Given the description of an element on the screen output the (x, y) to click on. 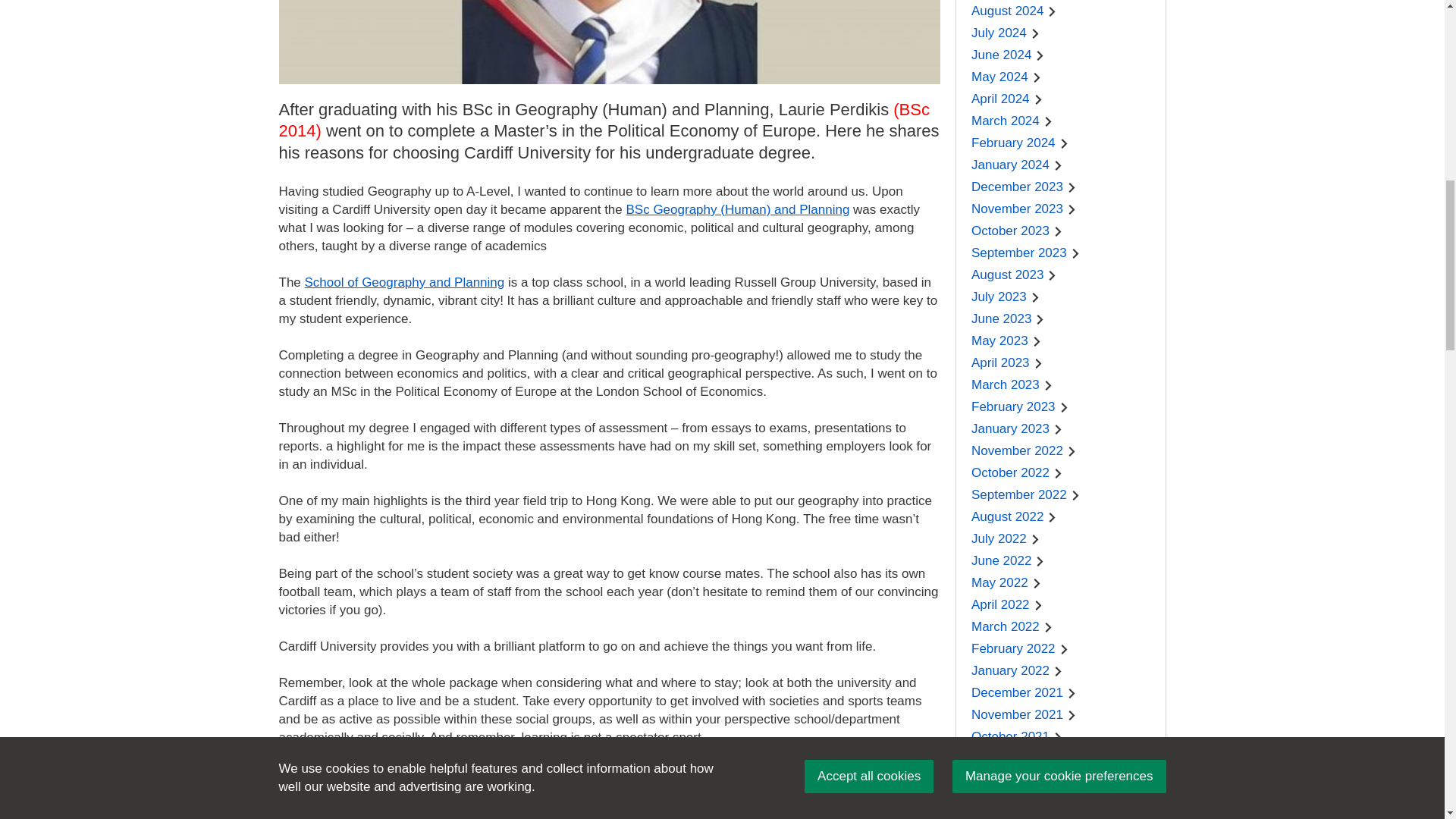
Chevron right (1051, 11)
Chevron right (1040, 55)
Chevron right (1037, 77)
Chevron right (1035, 33)
